Given the description of an element on the screen output the (x, y) to click on. 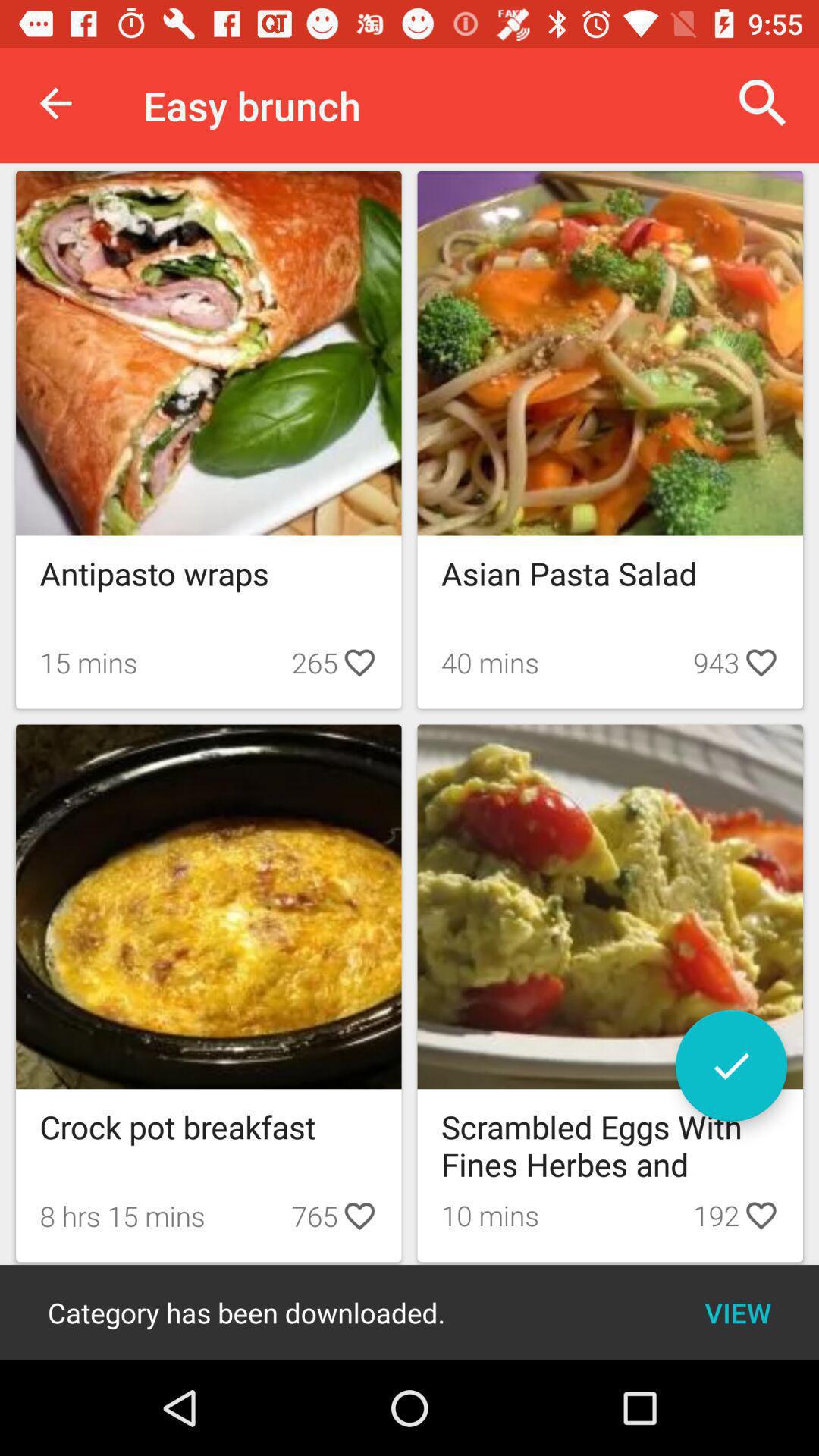
turn off item next to category has been icon (737, 1312)
